Given the description of an element on the screen output the (x, y) to click on. 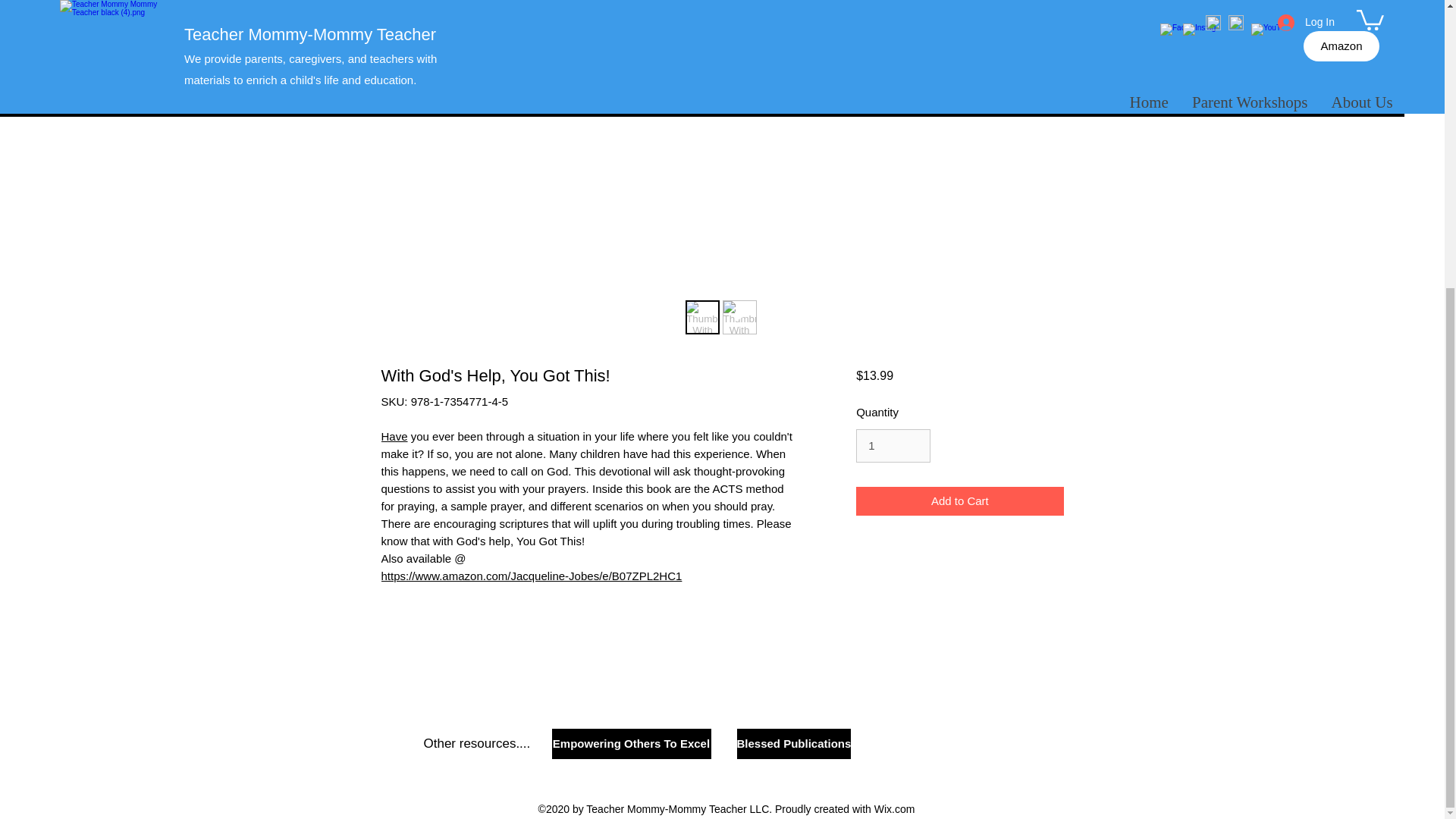
Empowering Others To Excel (631, 743)
Have (393, 436)
Blessed Publications (793, 743)
1 (893, 445)
Add to Cart (959, 501)
